Given the description of an element on the screen output the (x, y) to click on. 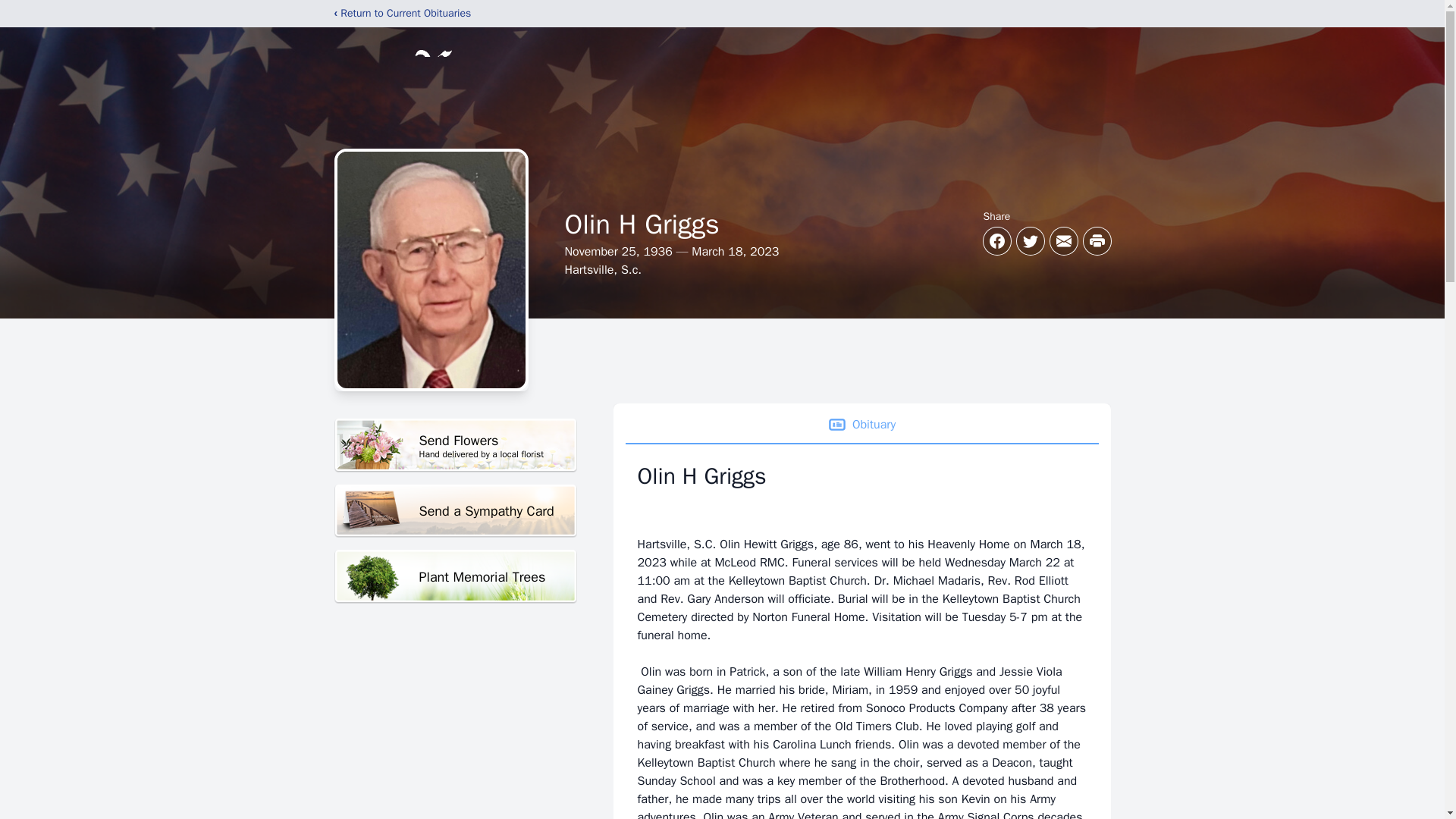
Obituary (860, 425)
Plant Memorial Trees (454, 576)
Send a Sympathy Card (454, 445)
